Given the description of an element on the screen output the (x, y) to click on. 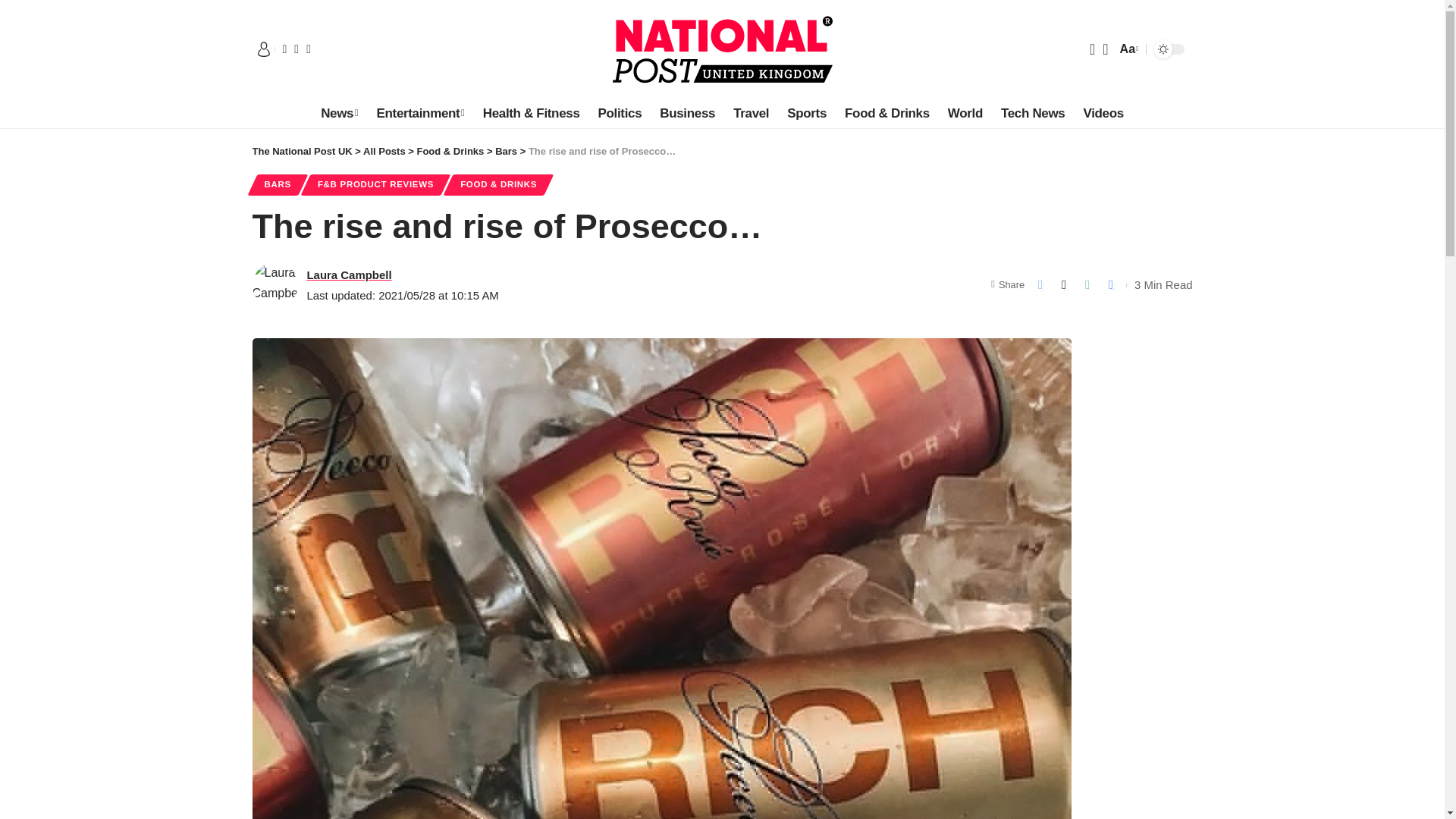
Go to The National Post UK. (301, 151)
The National Post UK (721, 48)
News (338, 113)
Aa (1127, 48)
Go to All Posts. (384, 151)
Go to the Bars Category archives. (505, 151)
